Given the description of an element on the screen output the (x, y) to click on. 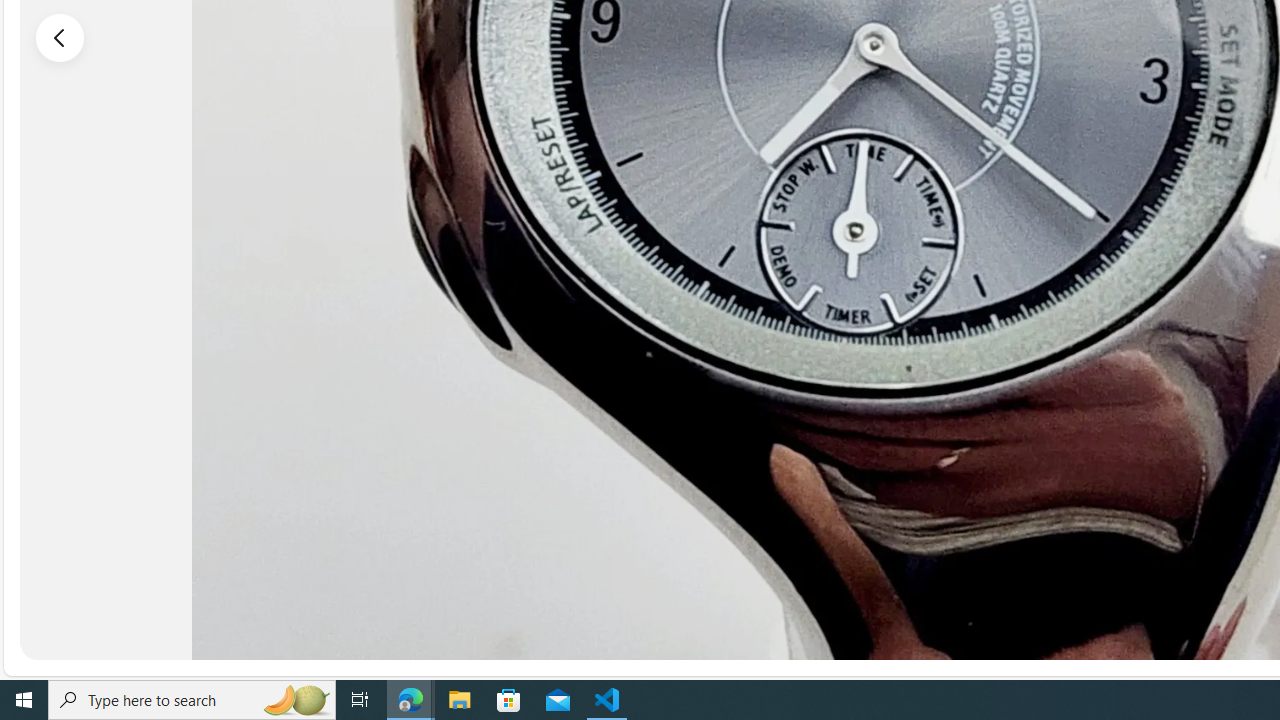
Previous image - Item images thumbnails (59, 37)
